Given the description of an element on the screen output the (x, y) to click on. 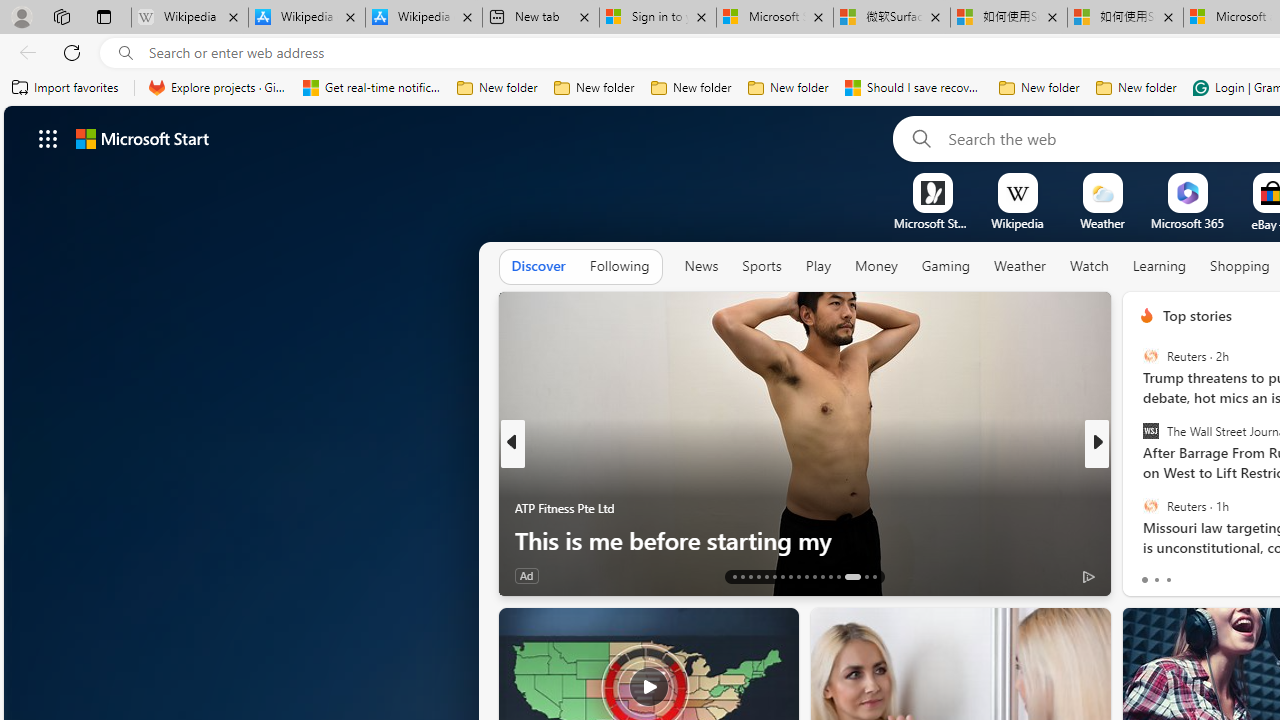
Sports (761, 267)
Learning (1159, 265)
Reuters (1149, 505)
Top stories (1196, 315)
AutomationID: tab-27 (852, 576)
News (701, 267)
AutomationID: tab-20 (789, 576)
AutomationID: tab-13 (733, 576)
Gaming (945, 267)
Microsoft Start Gaming (932, 223)
Watch (1089, 267)
